Given the description of an element on the screen output the (x, y) to click on. 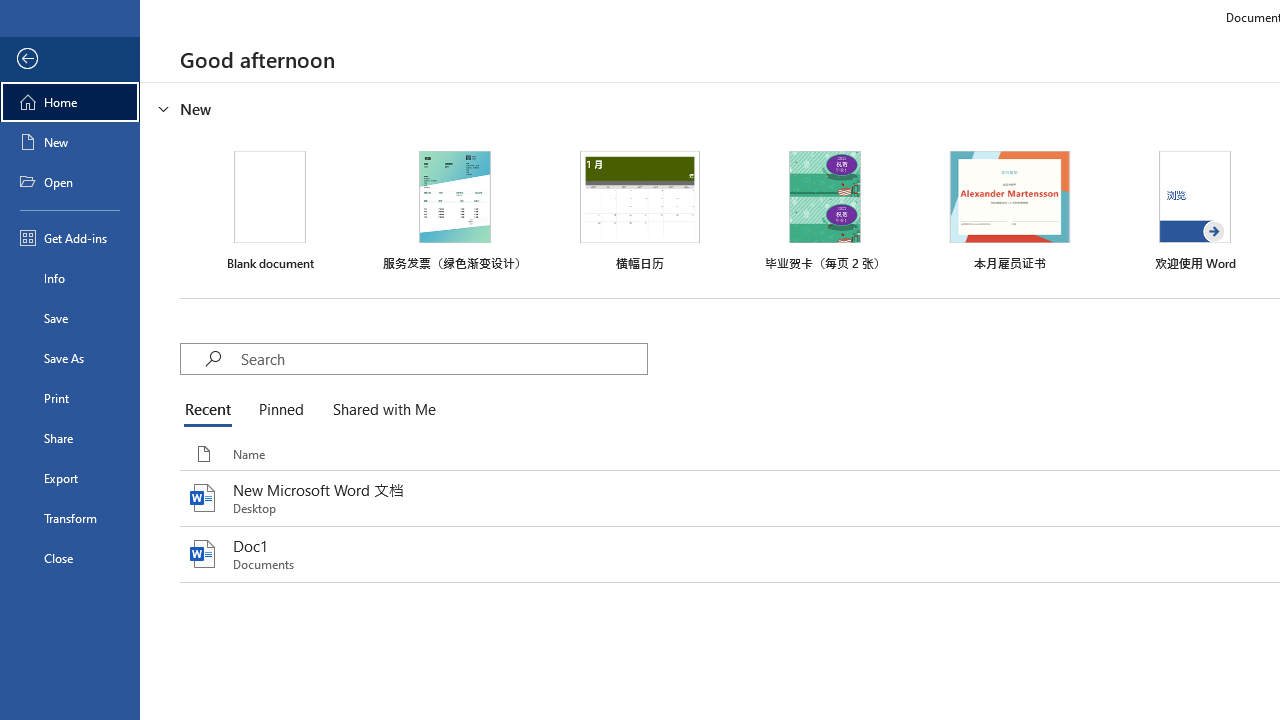
New (69, 141)
Transform (69, 517)
Recent (212, 410)
Back (69, 59)
Blank document (269, 211)
Export (69, 477)
Get Add-ins (69, 237)
